Given the description of an element on the screen output the (x, y) to click on. 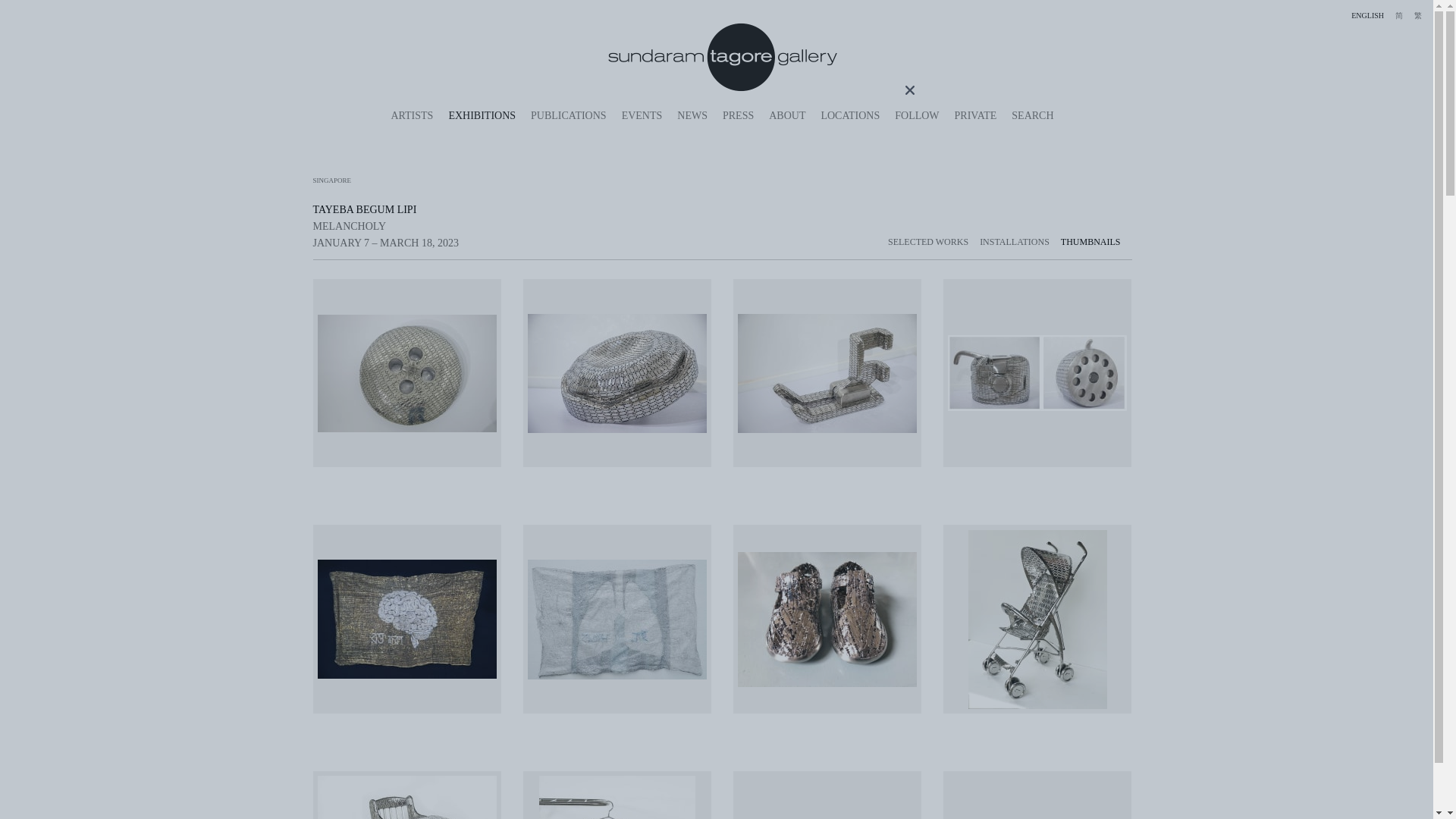
LOCATIONS (850, 115)
INSTALLATIONS (1020, 241)
THUMBNAILS (1096, 241)
SEARCH (1031, 115)
EVENTS (641, 115)
ABOUT (786, 115)
ARTISTS (411, 115)
ENGLISH (1367, 15)
NEWS (692, 115)
FOLLOW (917, 115)
